Given the description of an element on the screen output the (x, y) to click on. 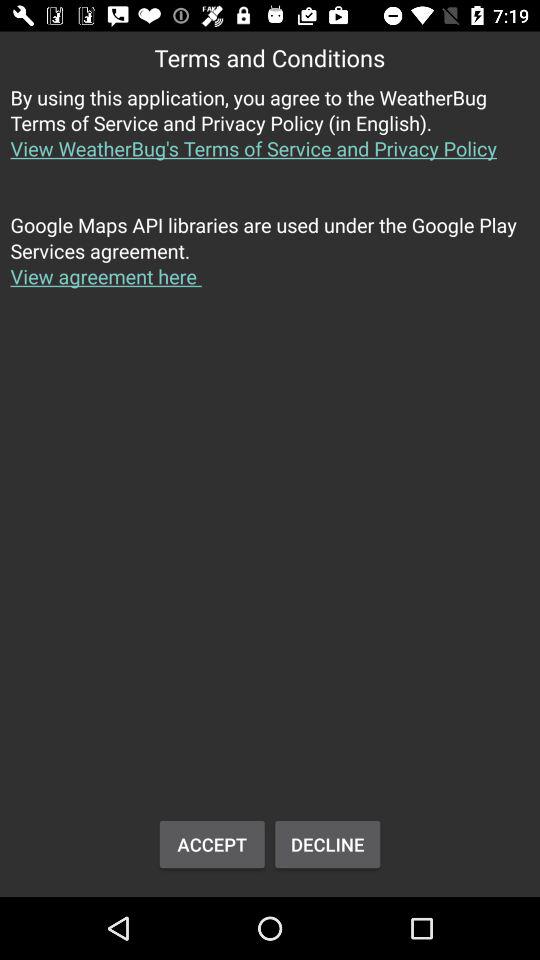
press button to the right of accept (327, 844)
